Given the description of an element on the screen output the (x, y) to click on. 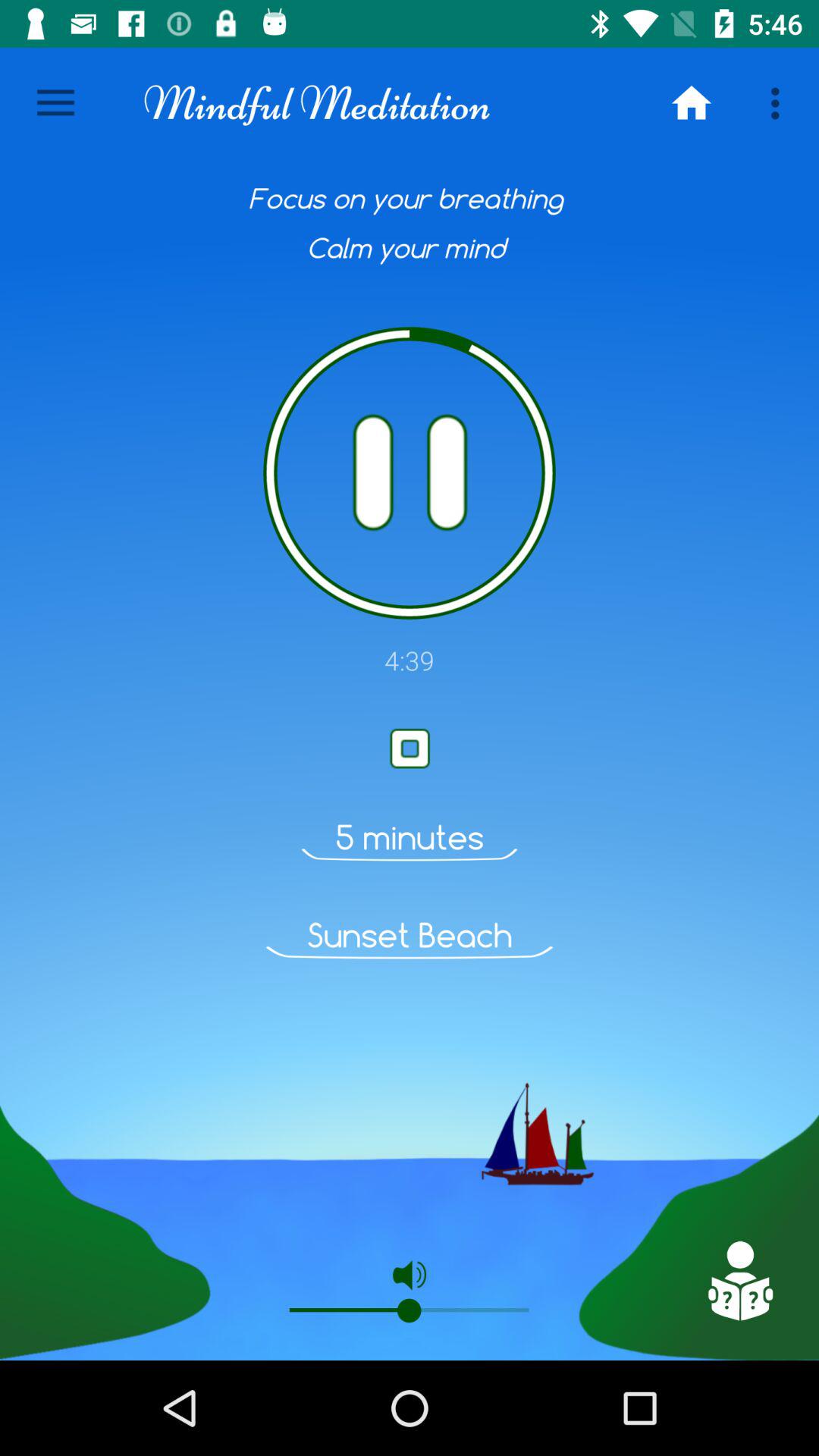
go to advertisement (739, 1280)
